Given the description of an element on the screen output the (x, y) to click on. 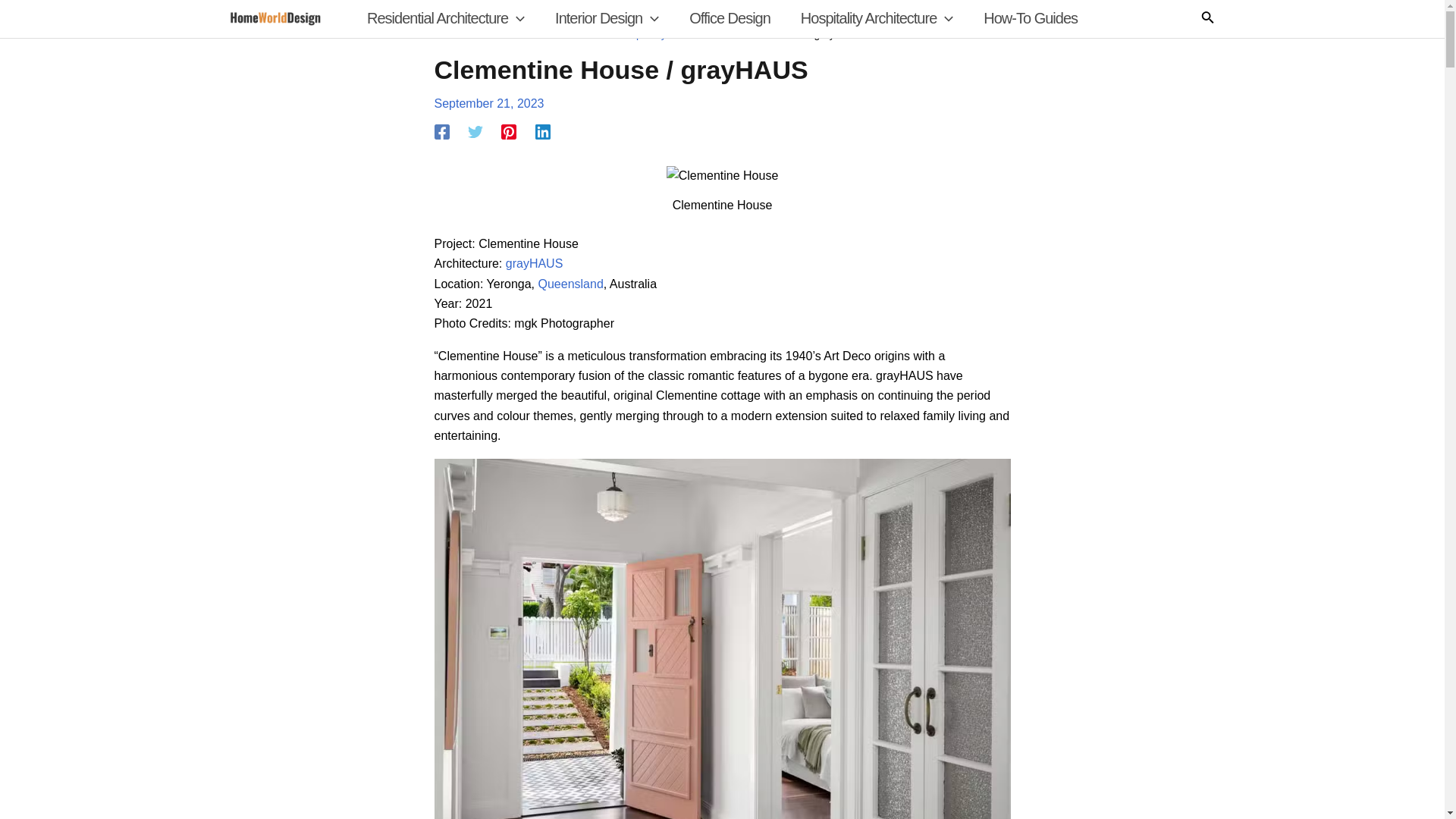
Office Design (730, 18)
Hospitality Architecture (877, 18)
Residential Architecture (446, 18)
Interior Design (607, 18)
How-To Guides (1030, 18)
